Given the description of an element on the screen output the (x, y) to click on. 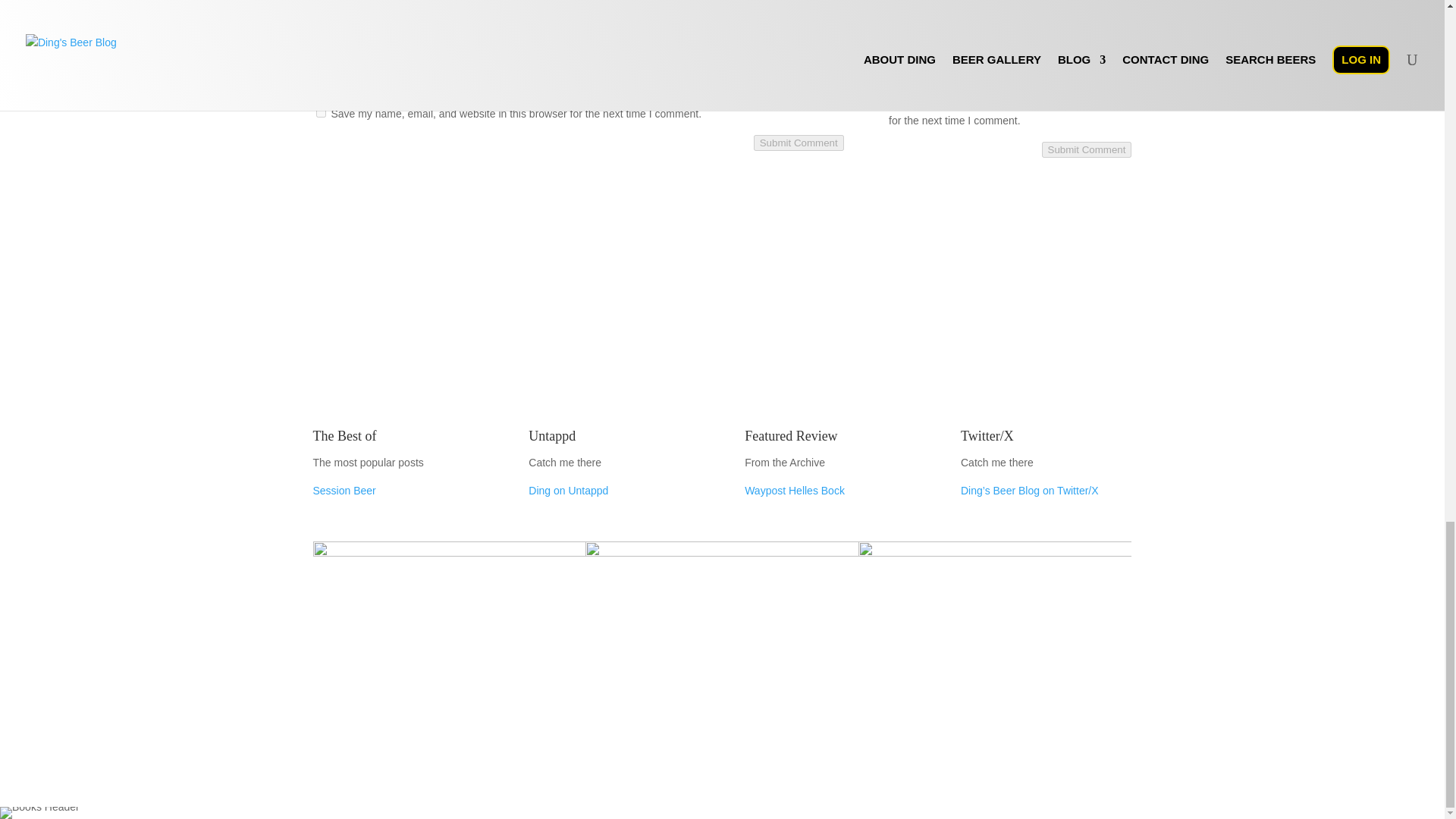
Photo Apr 19, 3 12 19 PM (722, 643)
yes (319, 112)
yes (1012, 82)
Photo Dec 22, 5 28 10 PM (995, 643)
Waypost Helles Bock (794, 490)
HHBCo.'s new line up (449, 643)
Ding on Untappd (568, 490)
Submit Comment (799, 142)
Submit Comment (1087, 149)
Session Beer (344, 490)
